Given the description of an element on the screen output the (x, y) to click on. 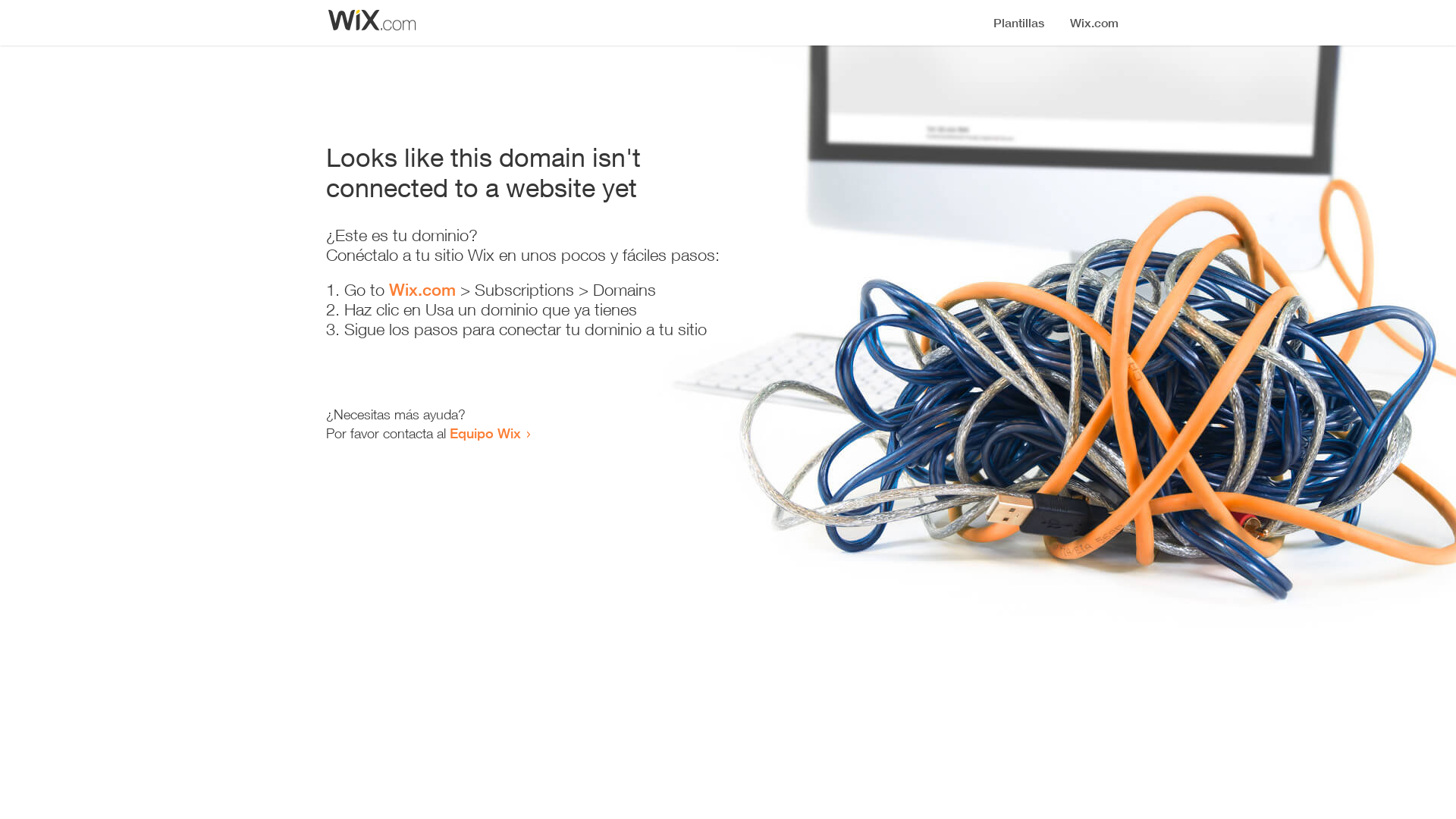
Equipo Wix Element type: text (484, 432)
Wix.com Element type: text (422, 289)
